Given the description of an element on the screen output the (x, y) to click on. 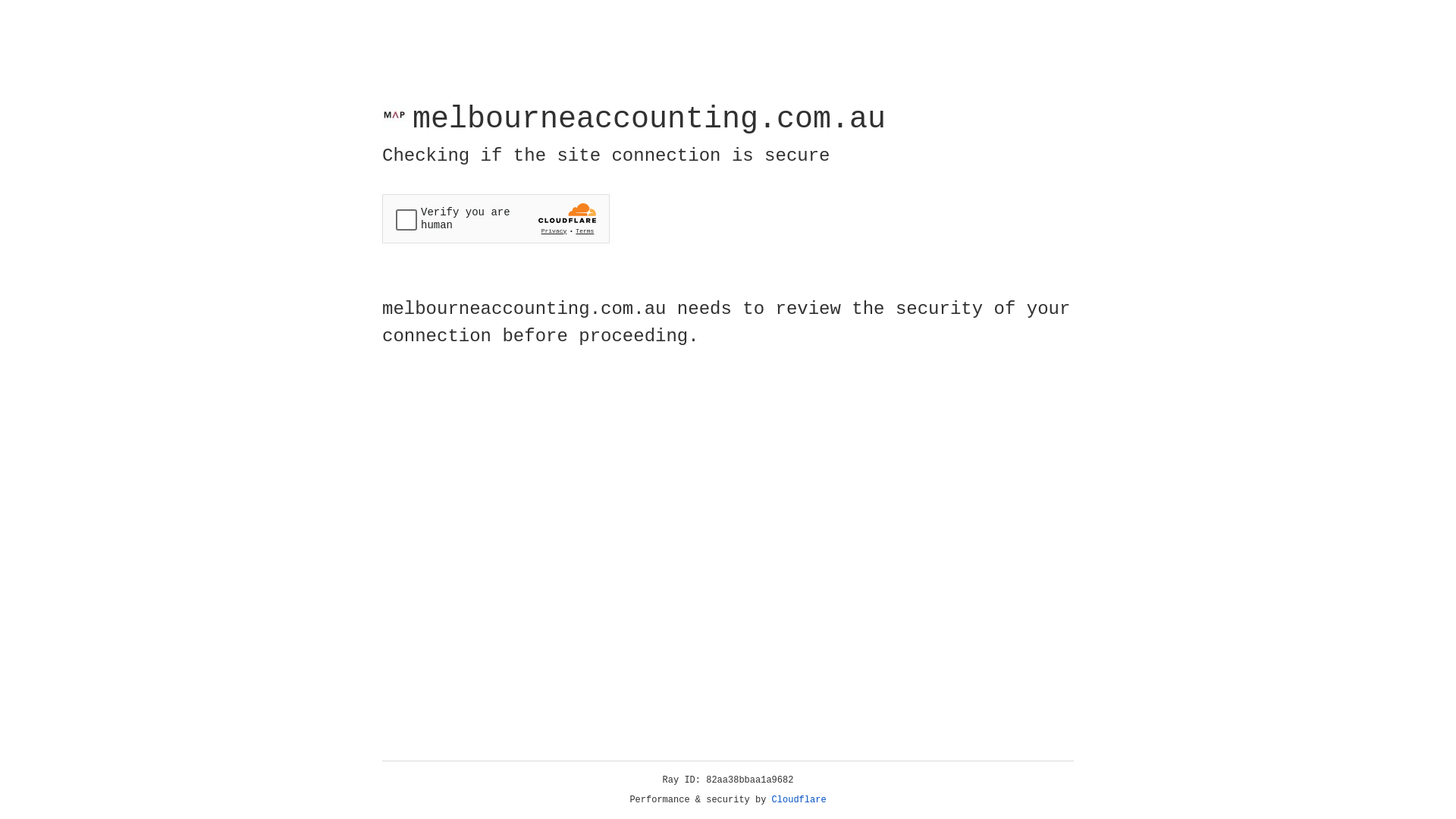
Widget containing a Cloudflare security challenge Element type: hover (495, 218)
Cloudflare Element type: text (798, 799)
